Given the description of an element on the screen output the (x, y) to click on. 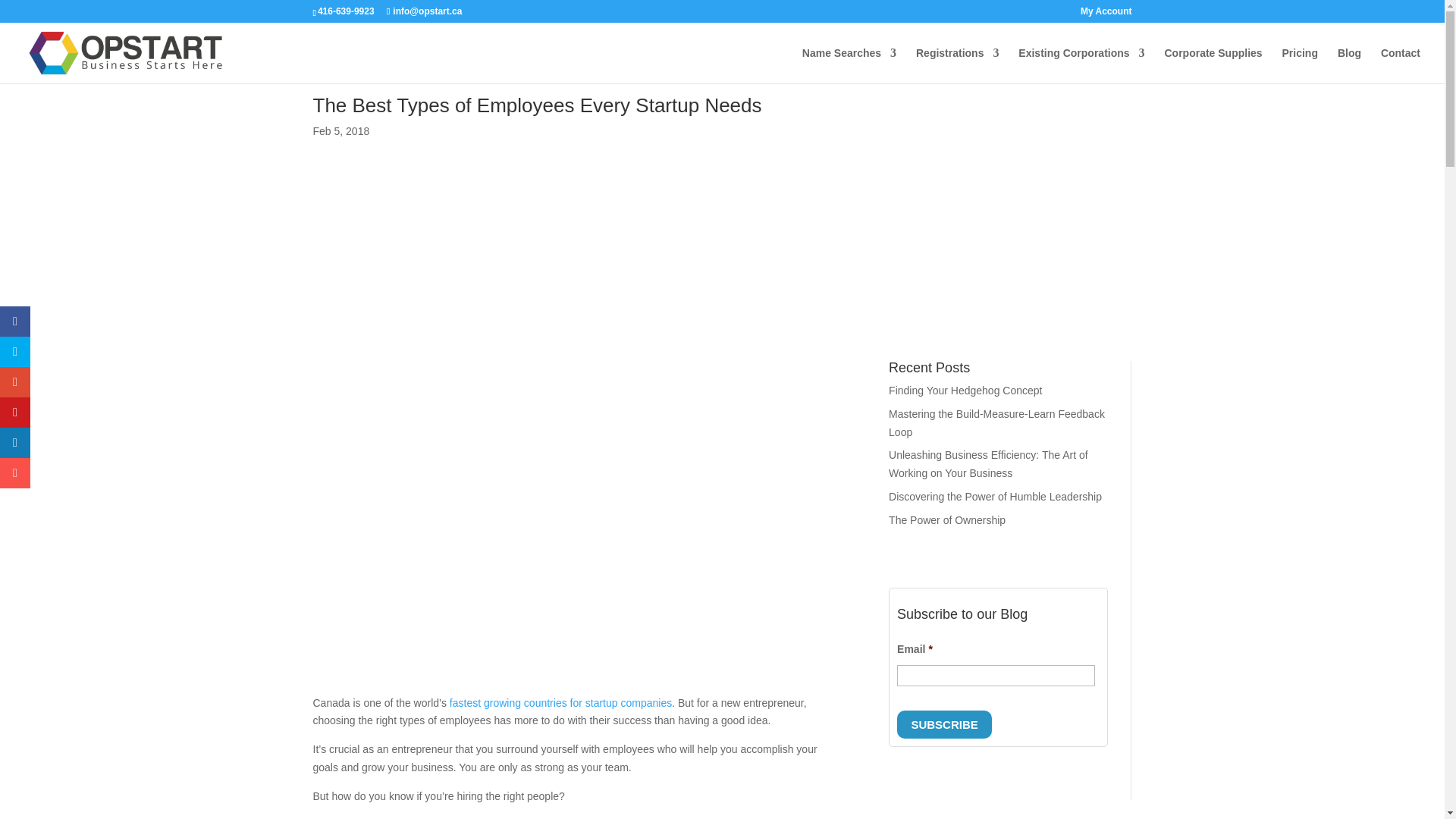
Subscribe (943, 724)
Corporate Supplies (1212, 65)
Contact (1400, 65)
My Account (1106, 14)
Registrations (956, 65)
Existing Corporations (1080, 65)
Name Searches (849, 65)
Pricing (1299, 65)
